Given the description of an element on the screen output the (x, y) to click on. 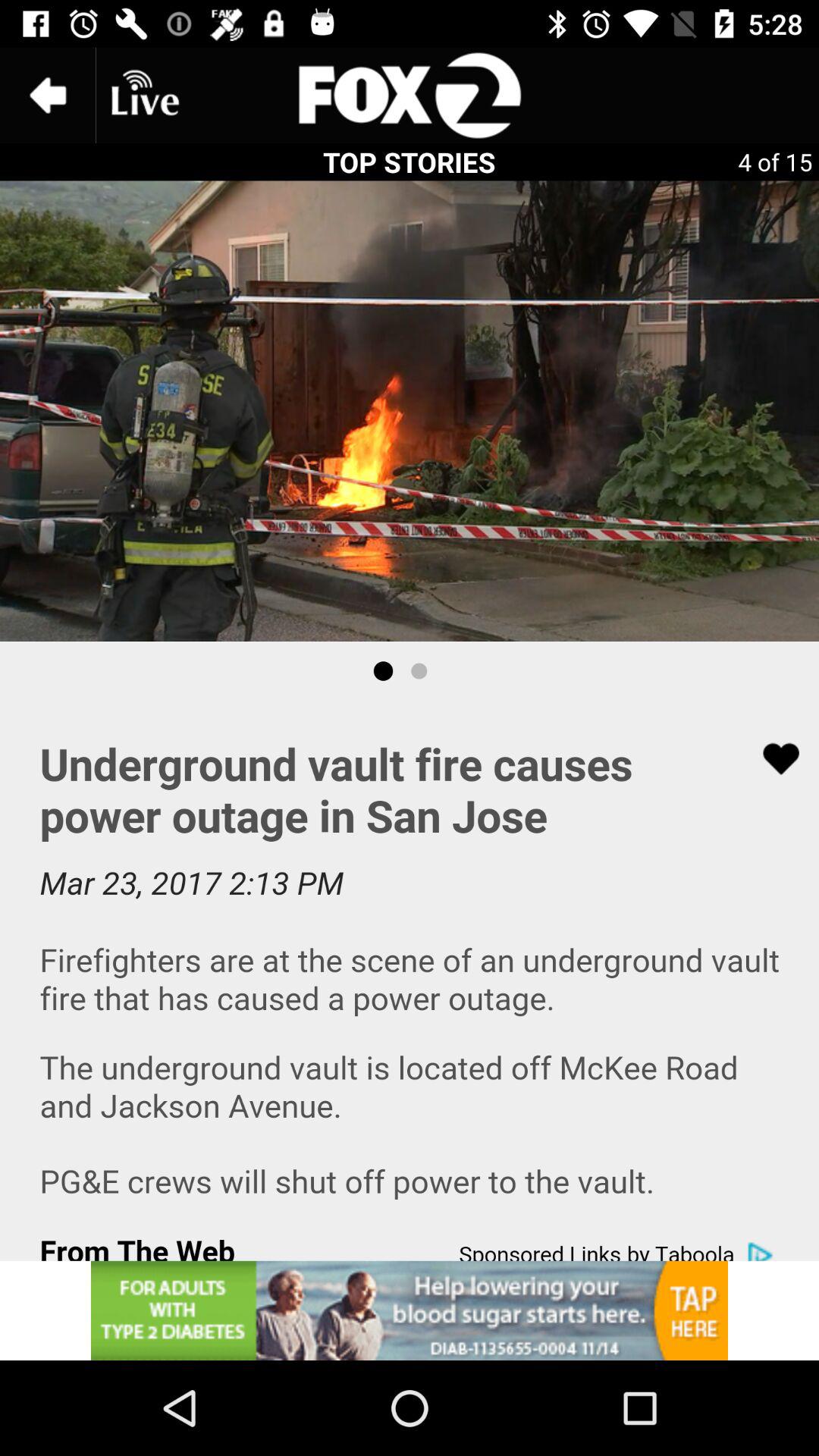
learn about this product (409, 1310)
